Given the description of an element on the screen output the (x, y) to click on. 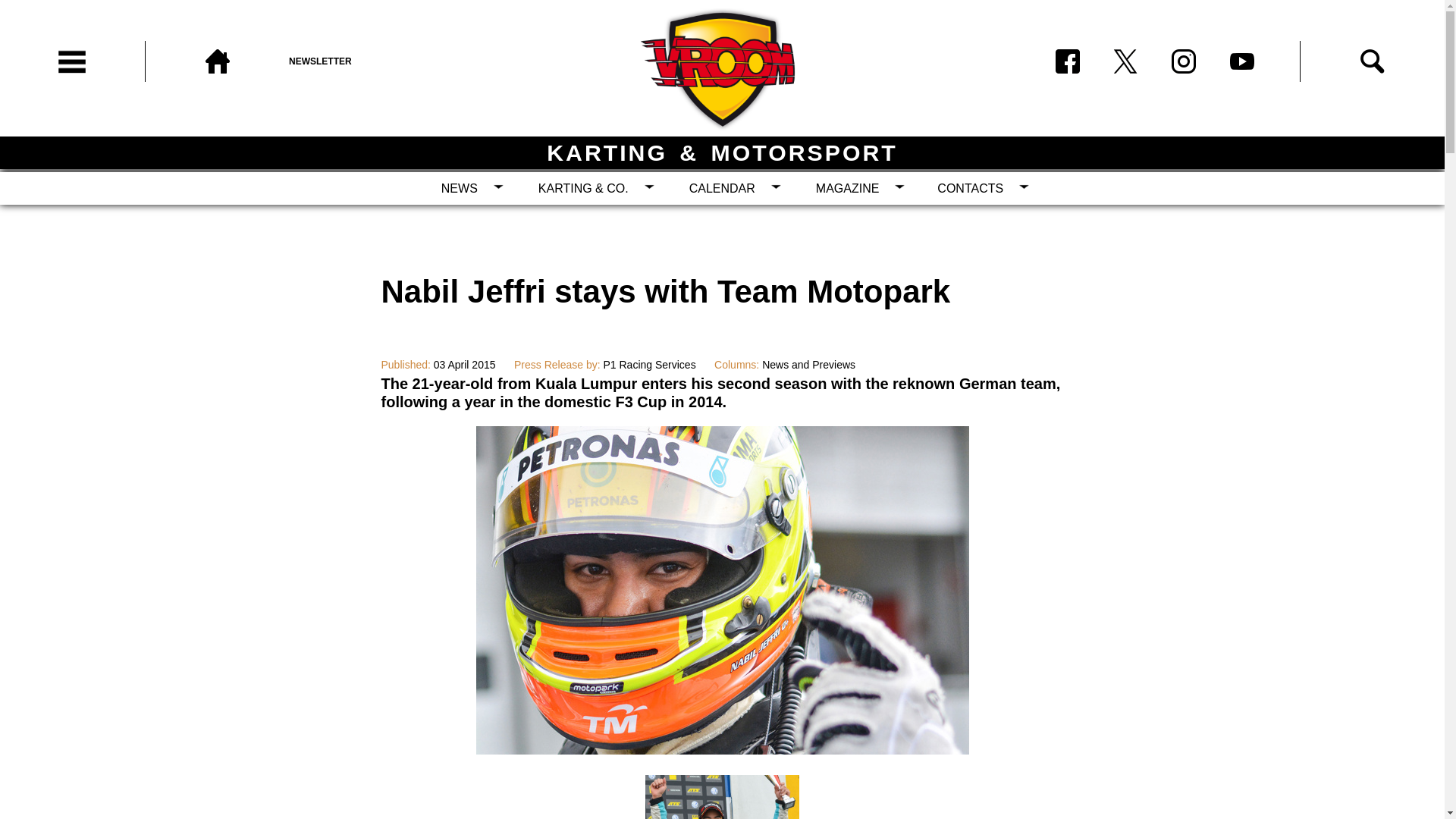
Search (1371, 60)
NEWSLETTER (360, 60)
NEWSLETTER (360, 60)
Nabil Jeffri stays with Team Motopark (722, 749)
